Given the description of an element on the screen output the (x, y) to click on. 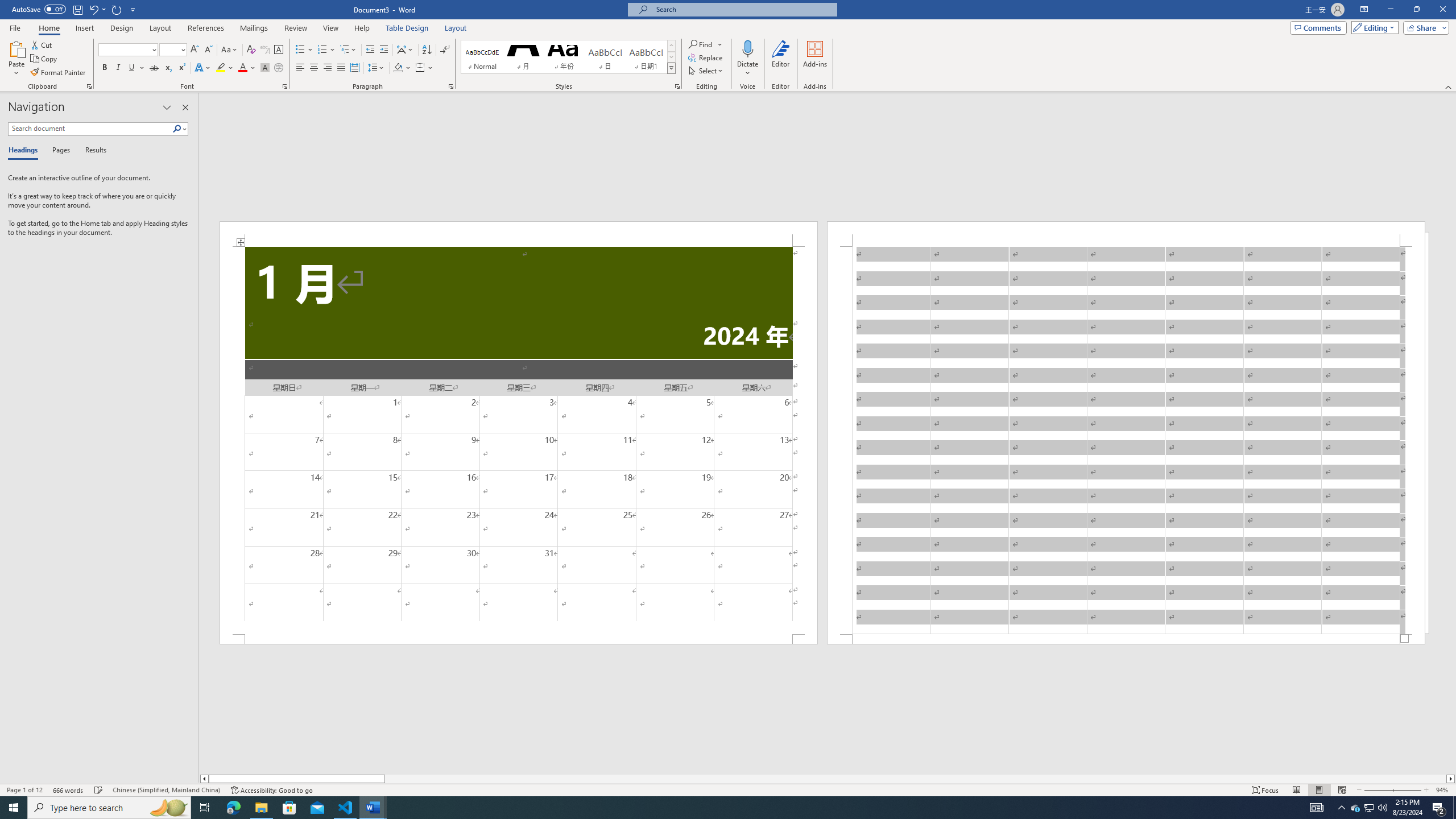
Mode (1372, 27)
View (330, 28)
References (205, 28)
Class: MsoCommandBar (728, 789)
Justify (340, 67)
Grow Font (193, 49)
Spelling and Grammar Check Checking (98, 790)
Zoom In (1407, 790)
